Given the description of an element on the screen output the (x, y) to click on. 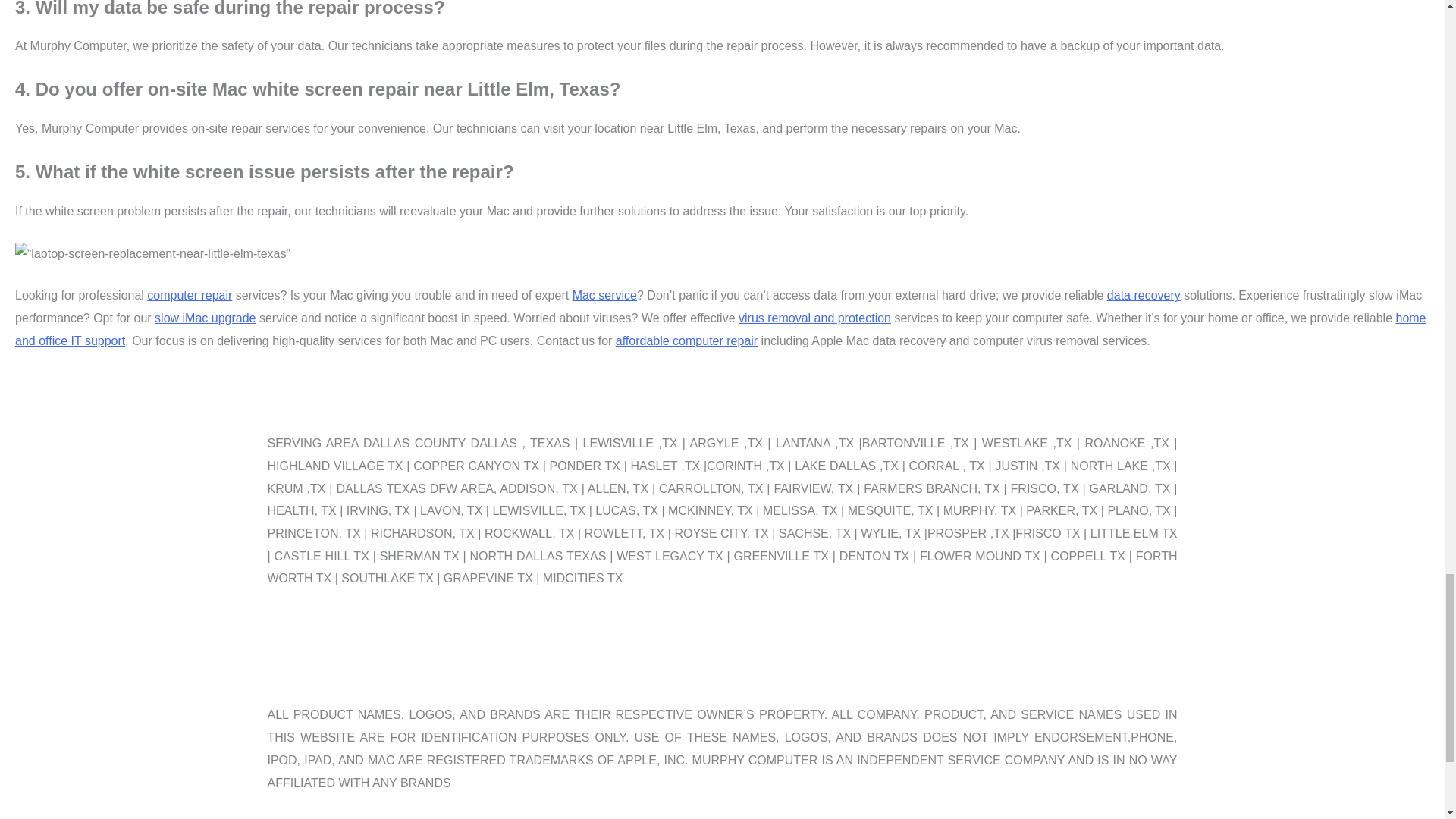
affordable computer repair (686, 340)
data recovery (1143, 295)
computer repair (189, 295)
home and office IT support (720, 329)
Mac service (604, 295)
slow iMac upgrade (205, 318)
virus removal and protection (814, 318)
